Given the description of an element on the screen output the (x, y) to click on. 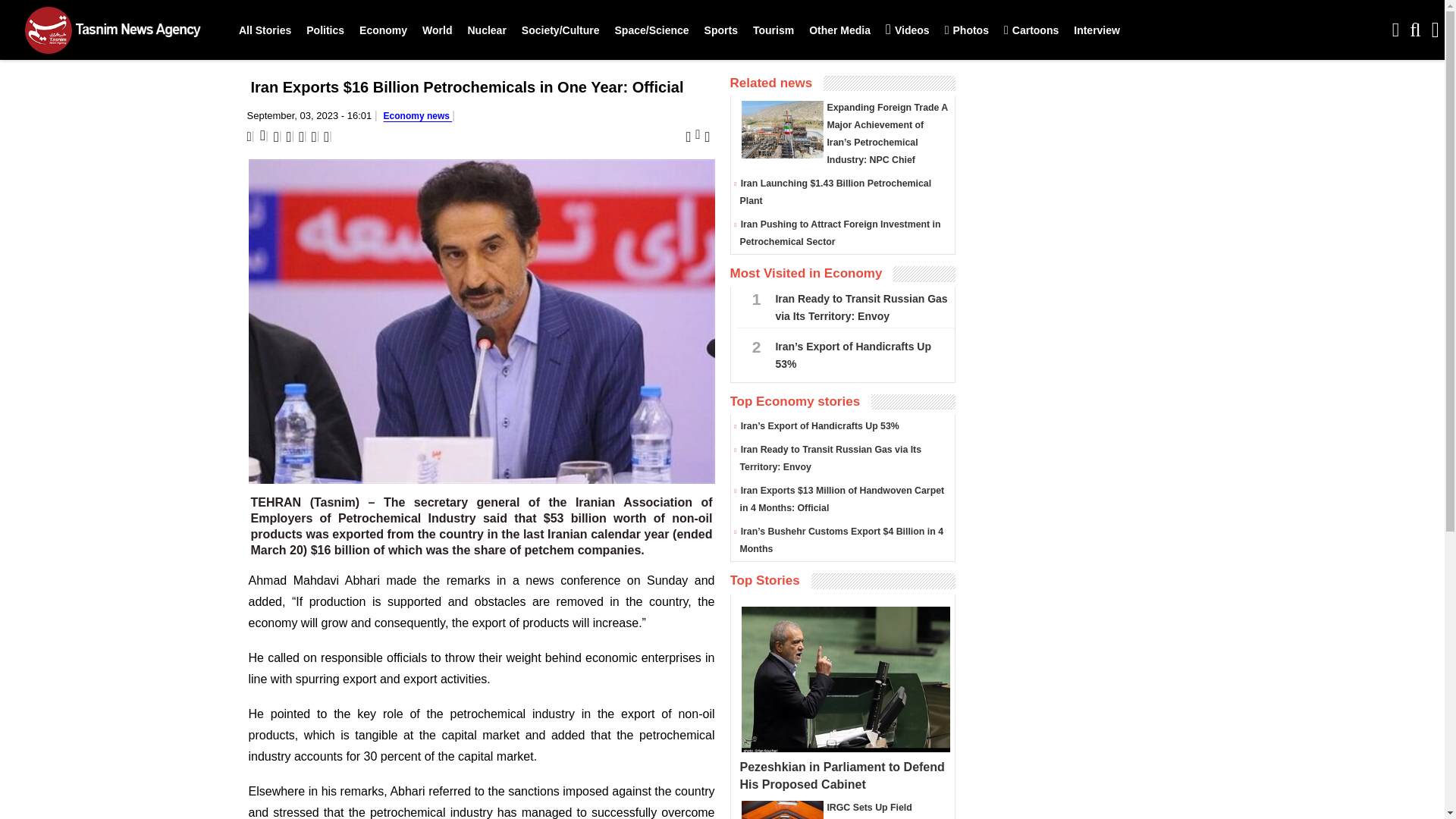
Economy (383, 30)
Cartoons (1030, 30)
Videos (907, 30)
Photos (966, 30)
Tourism (773, 30)
Interview (1095, 30)
All Stories (264, 30)
Other Media (839, 30)
